Given the description of an element on the screen output the (x, y) to click on. 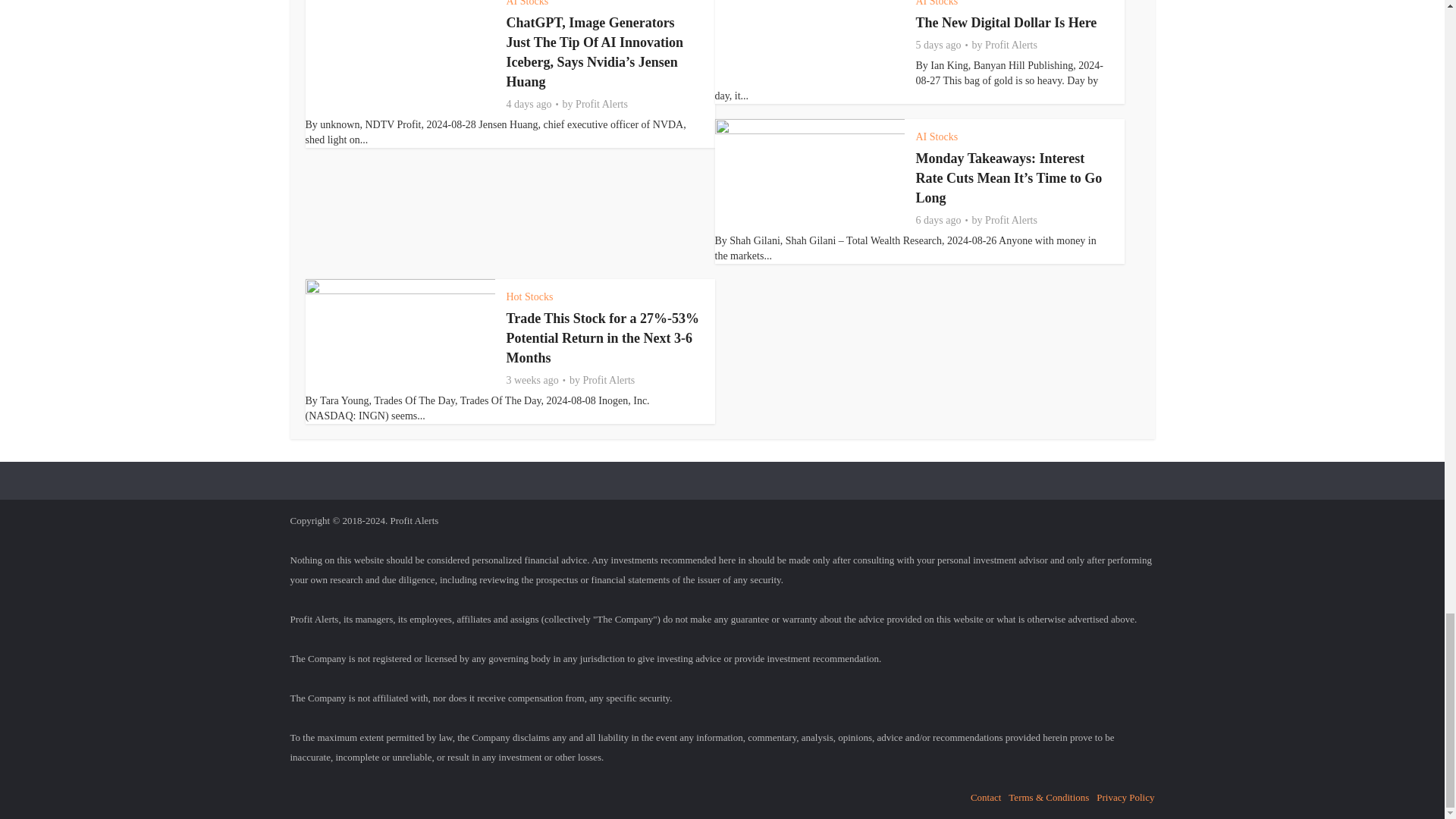
Profit Alerts (1010, 220)
Hot Stocks (529, 296)
Profit Alerts (1010, 45)
AI Stocks (527, 3)
AI Stocks (936, 3)
The New Digital Dollar Is Here (1006, 22)
AI Stocks (936, 136)
Profit Alerts (601, 104)
Profit Alerts (608, 380)
The New Digital Dollar Is Here (1006, 22)
